Given the description of an element on the screen output the (x, y) to click on. 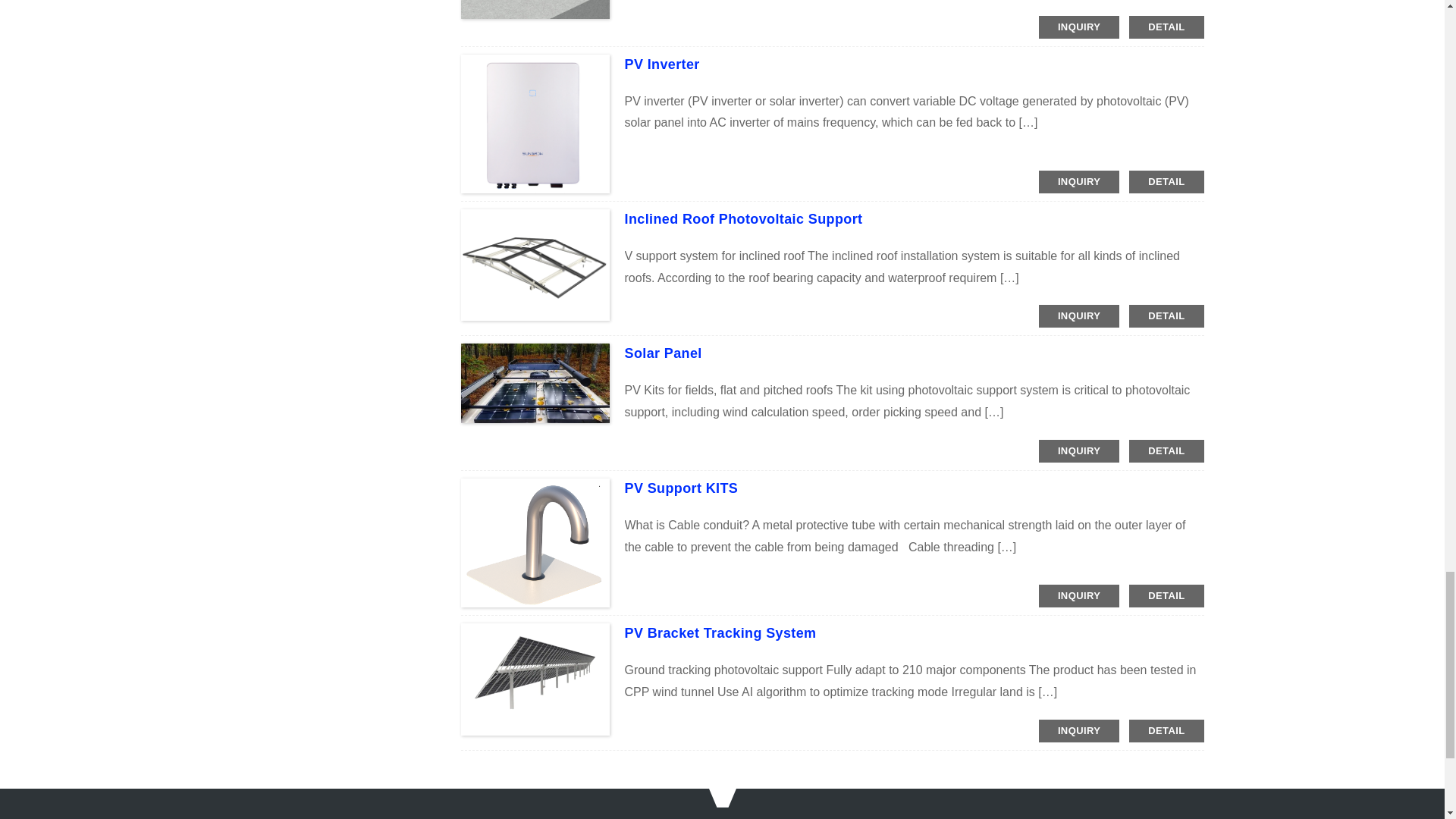
DETAIL (1166, 26)
DETAIL (1166, 181)
PV Inverter (662, 64)
INQUIRY (1079, 26)
PV inverter (662, 64)
INQUIRY (1079, 181)
